Given the description of an element on the screen output the (x, y) to click on. 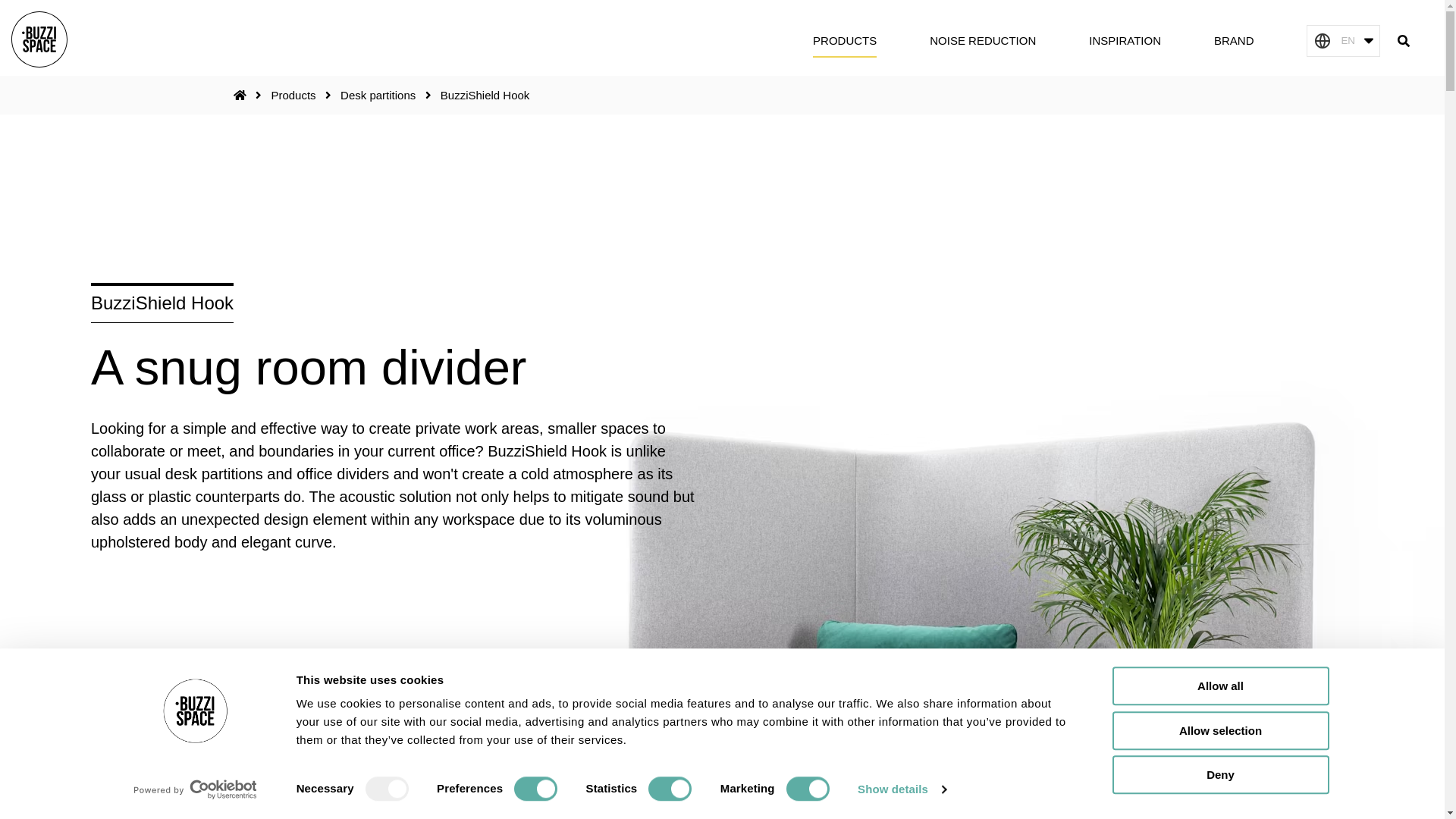
Show details (900, 789)
logo Buzzispace light (38, 39)
